Given the description of an element on the screen output the (x, y) to click on. 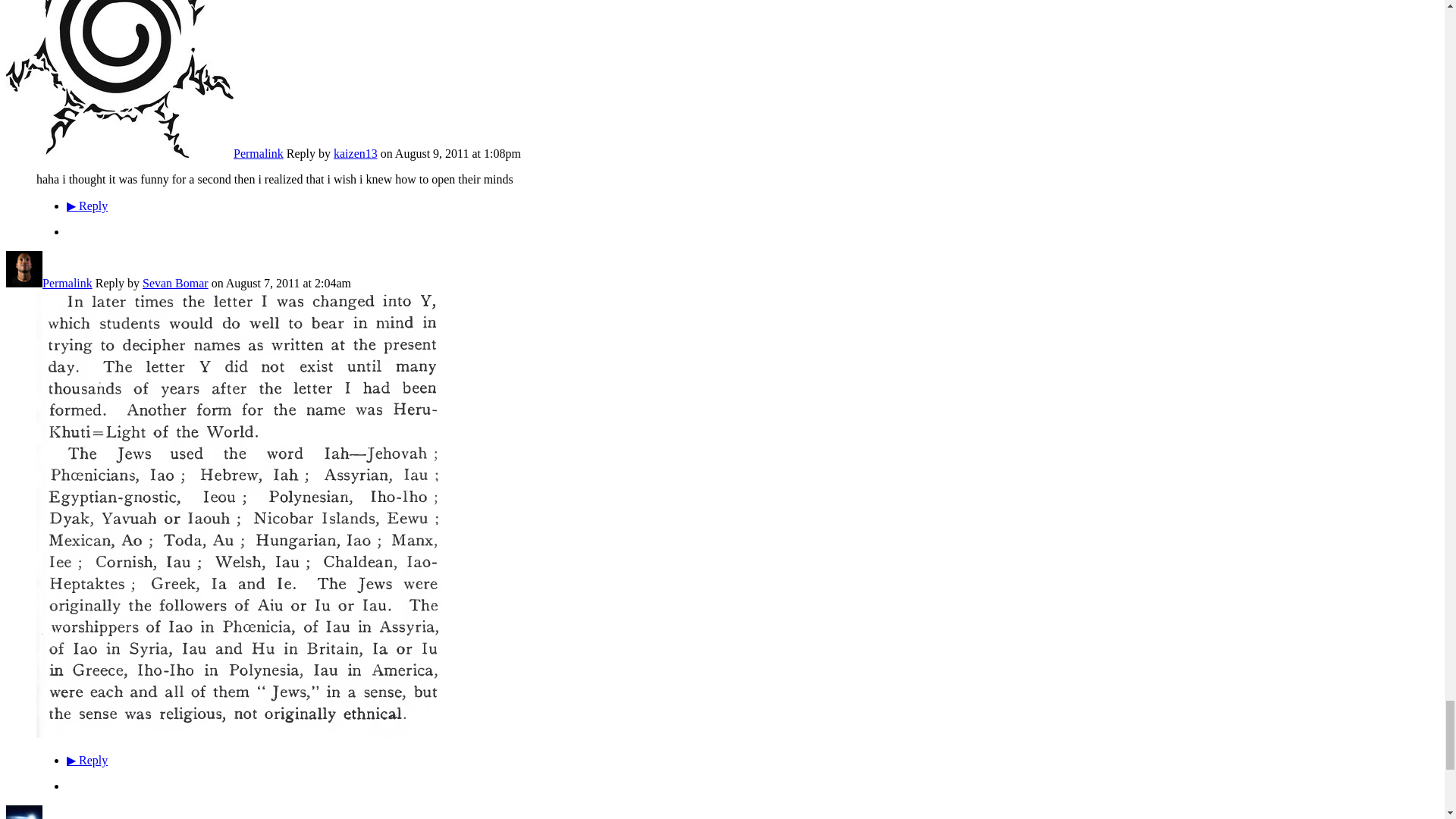
Sevan Bomar (23, 282)
Permalink to this Reply (67, 818)
Permalink to this Reply (67, 282)
Light Inside (23, 818)
Permalink to this Reply (257, 153)
kaizen13 (118, 153)
